Given the description of an element on the screen output the (x, y) to click on. 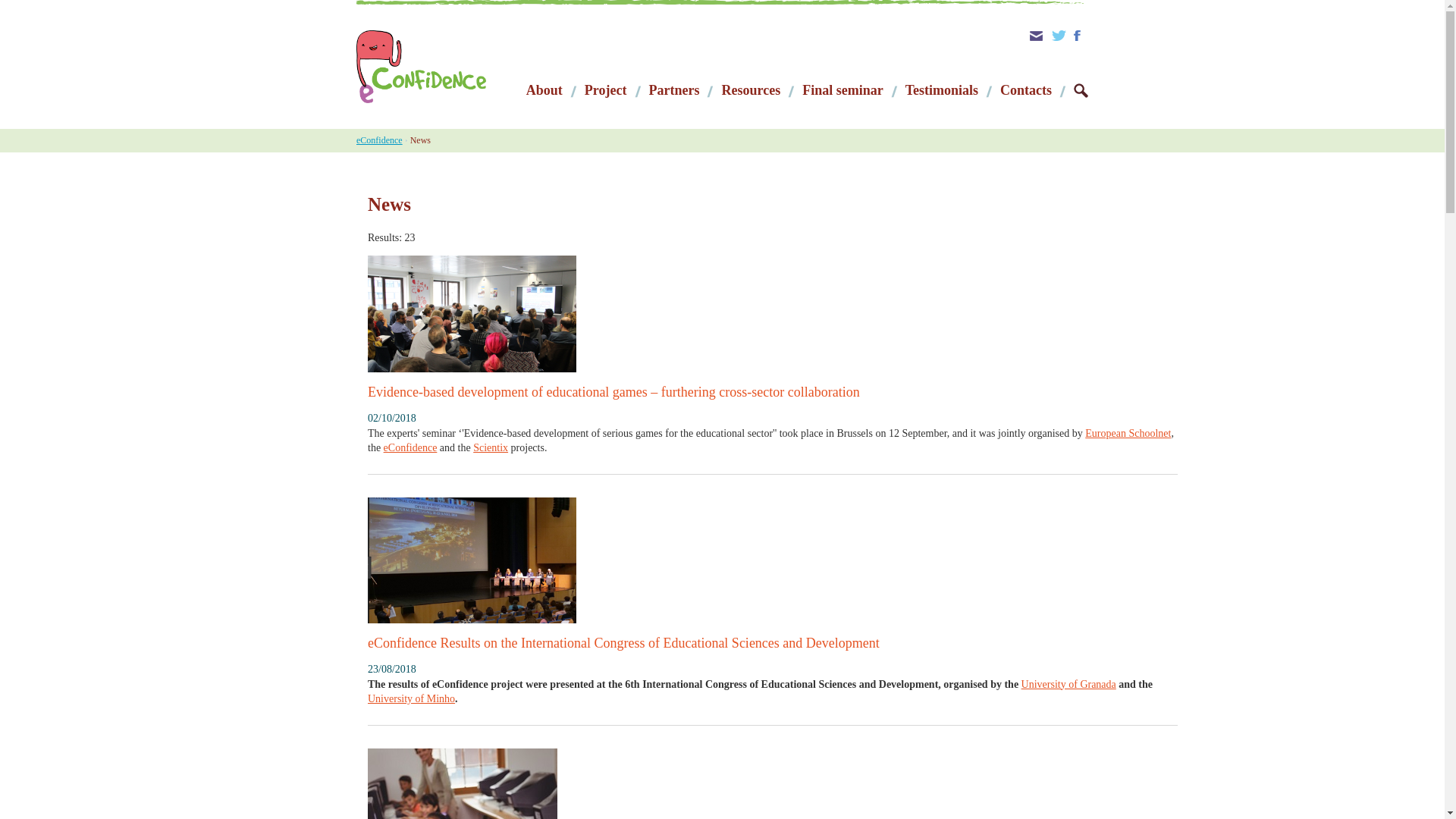
Resources (750, 91)
About (543, 91)
Project (606, 91)
eConfidence (411, 447)
University of Granada (1069, 684)
University of Minho (411, 698)
Go to eConfidence (450, 66)
European Schoolnet (1127, 432)
News (420, 140)
Partners (674, 91)
Final seminar (842, 91)
Testimonials (941, 91)
eConfidence (379, 140)
Contacts (1025, 91)
